Given the description of an element on the screen output the (x, y) to click on. 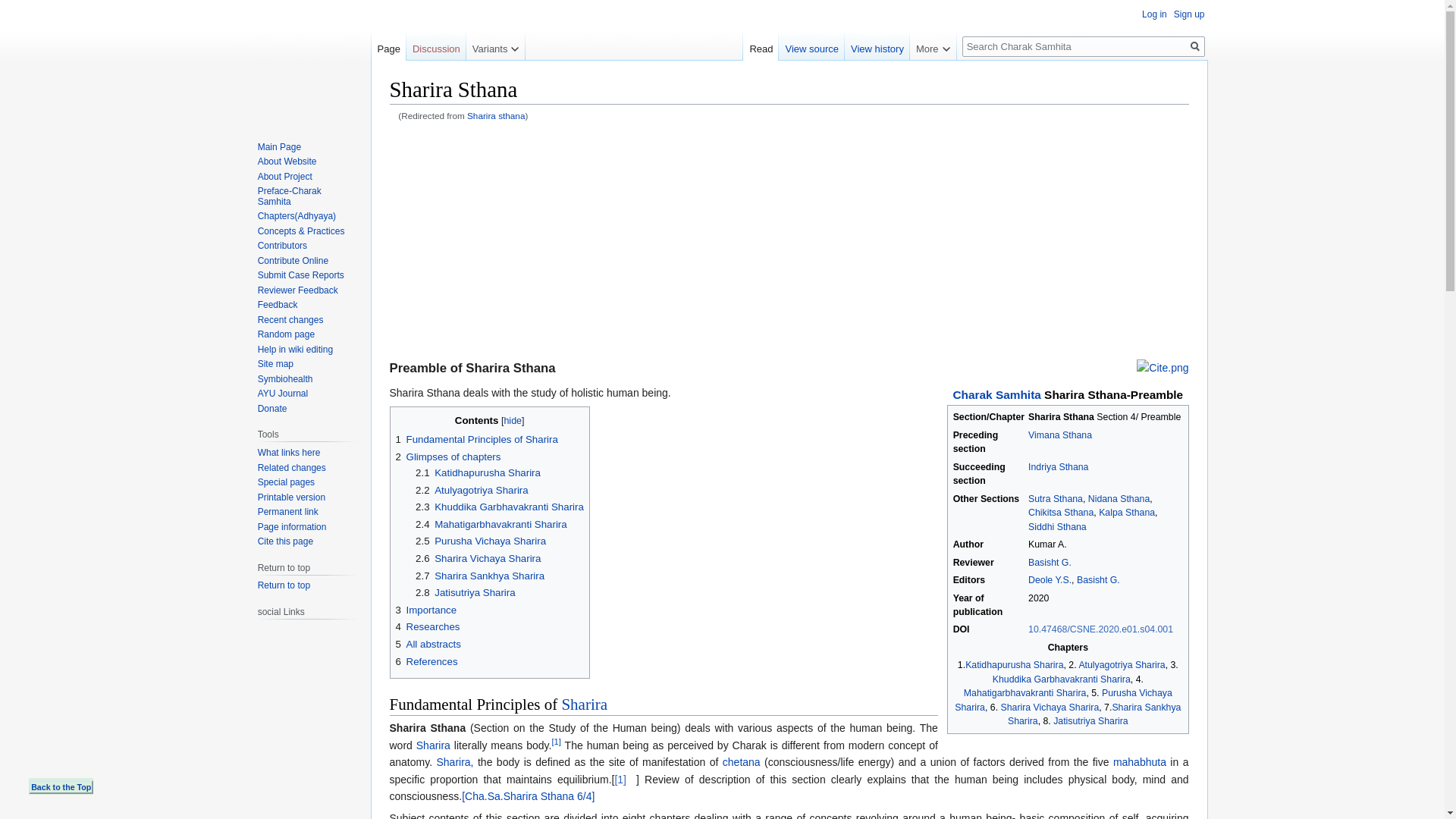
4 Researches (428, 626)
2.5 Purusha Vichaya Sharira (480, 541)
2.6 Sharira Vichaya Sharira (477, 558)
2.4 Mahatigarbhavakranti Sharira (490, 523)
2.2 Atulyagotriya Sharira (471, 490)
2.1 Katidhapurusha Sharira (477, 472)
2.8 Jatisutriya Sharira (464, 592)
Sharira sthana (495, 115)
6 References (427, 661)
